Given the description of an element on the screen output the (x, y) to click on. 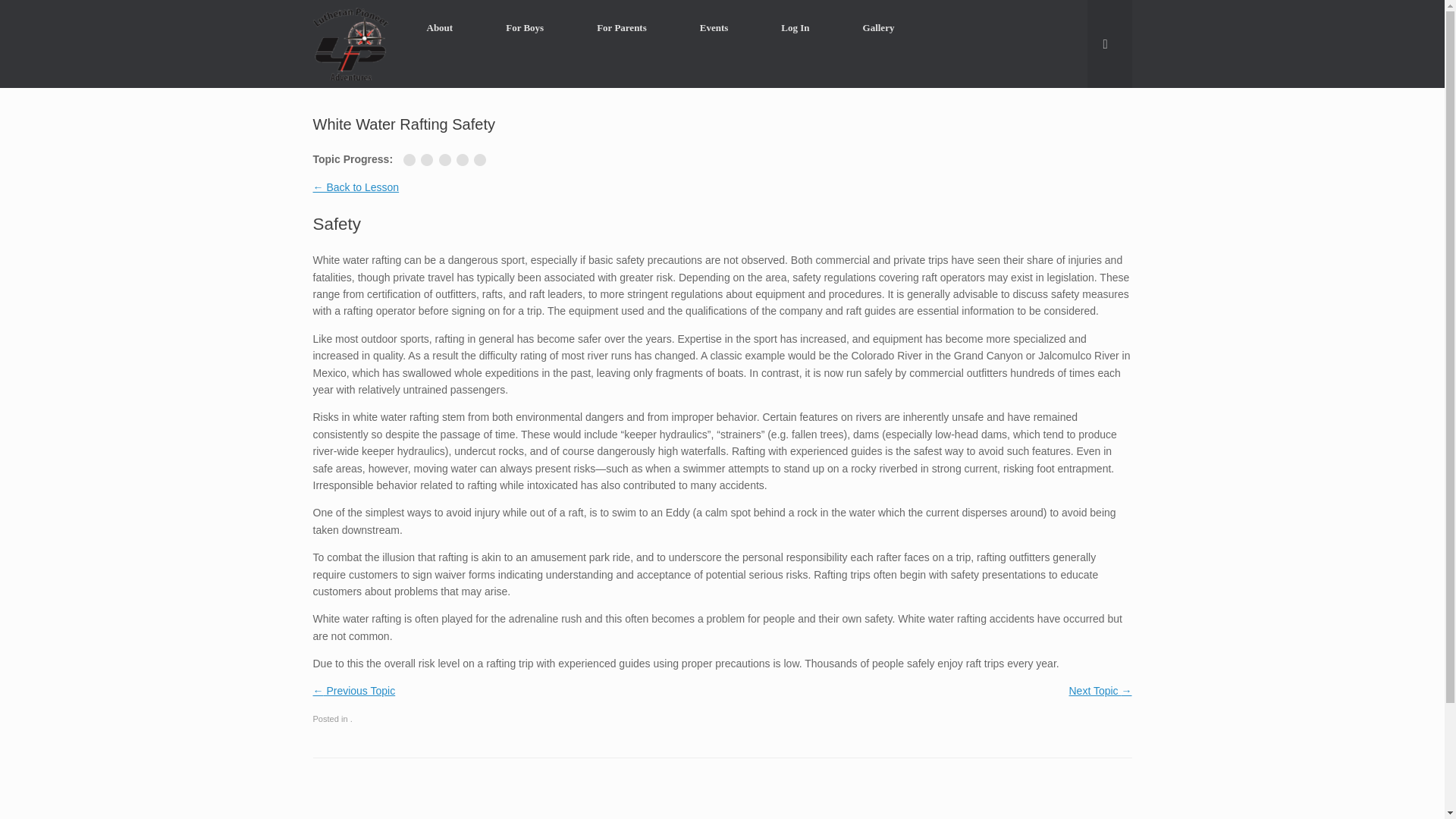
White Water Rafting Safety (429, 159)
Gallery (878, 27)
For Boys (524, 27)
Events (713, 27)
For Parents (621, 27)
What to Do in an Emergency (481, 159)
White Water Gear Guide (465, 159)
Log In (794, 27)
About (440, 27)
Rafting Lesson 1 Introduction (411, 159)
